Given the description of an element on the screen output the (x, y) to click on. 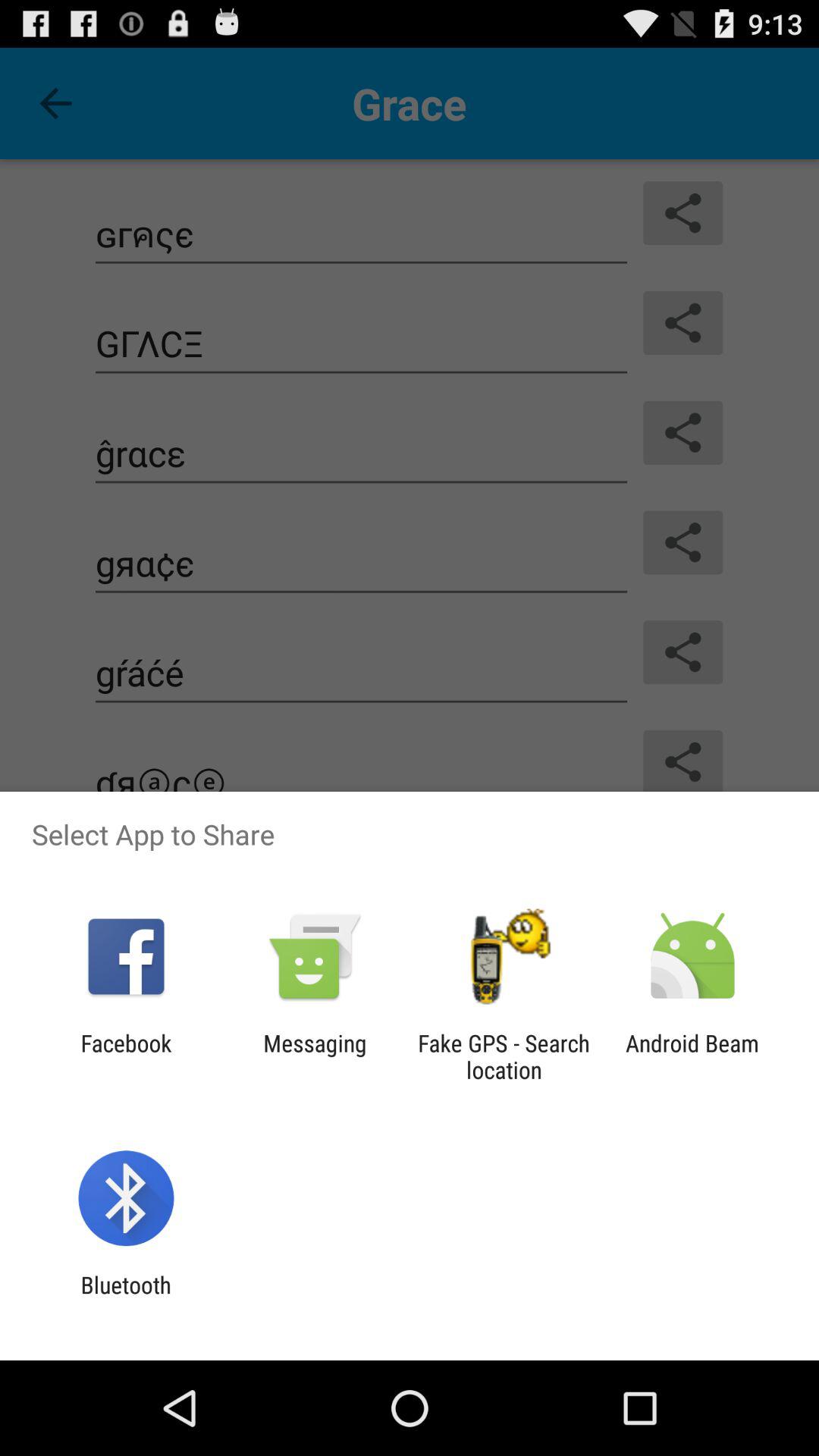
turn off bluetooth app (125, 1298)
